Given the description of an element on the screen output the (x, y) to click on. 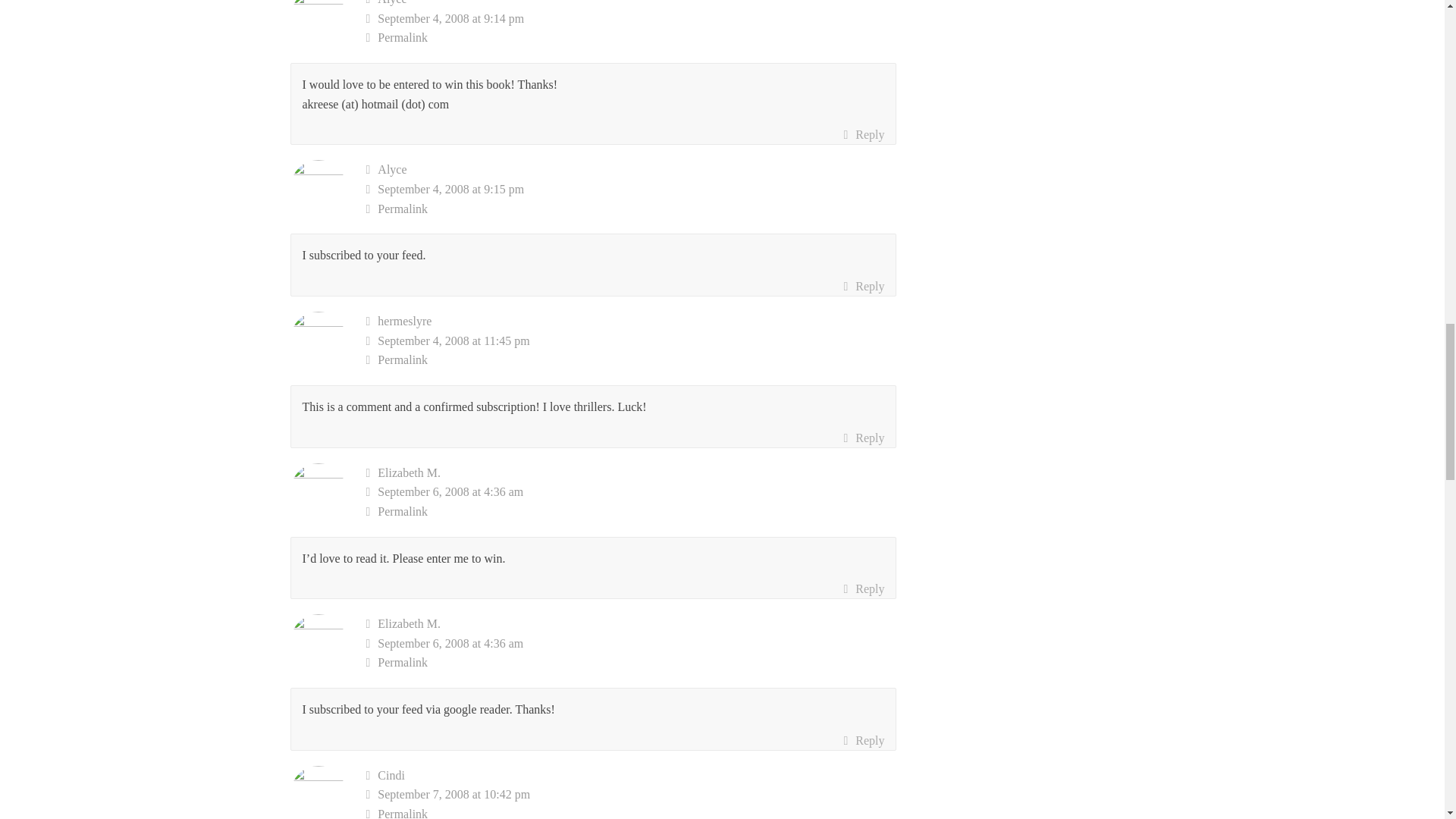
Reply (863, 134)
Permalink (630, 209)
Permalink (630, 37)
Alyce (391, 169)
Alyce (391, 2)
